Given the description of an element on the screen output the (x, y) to click on. 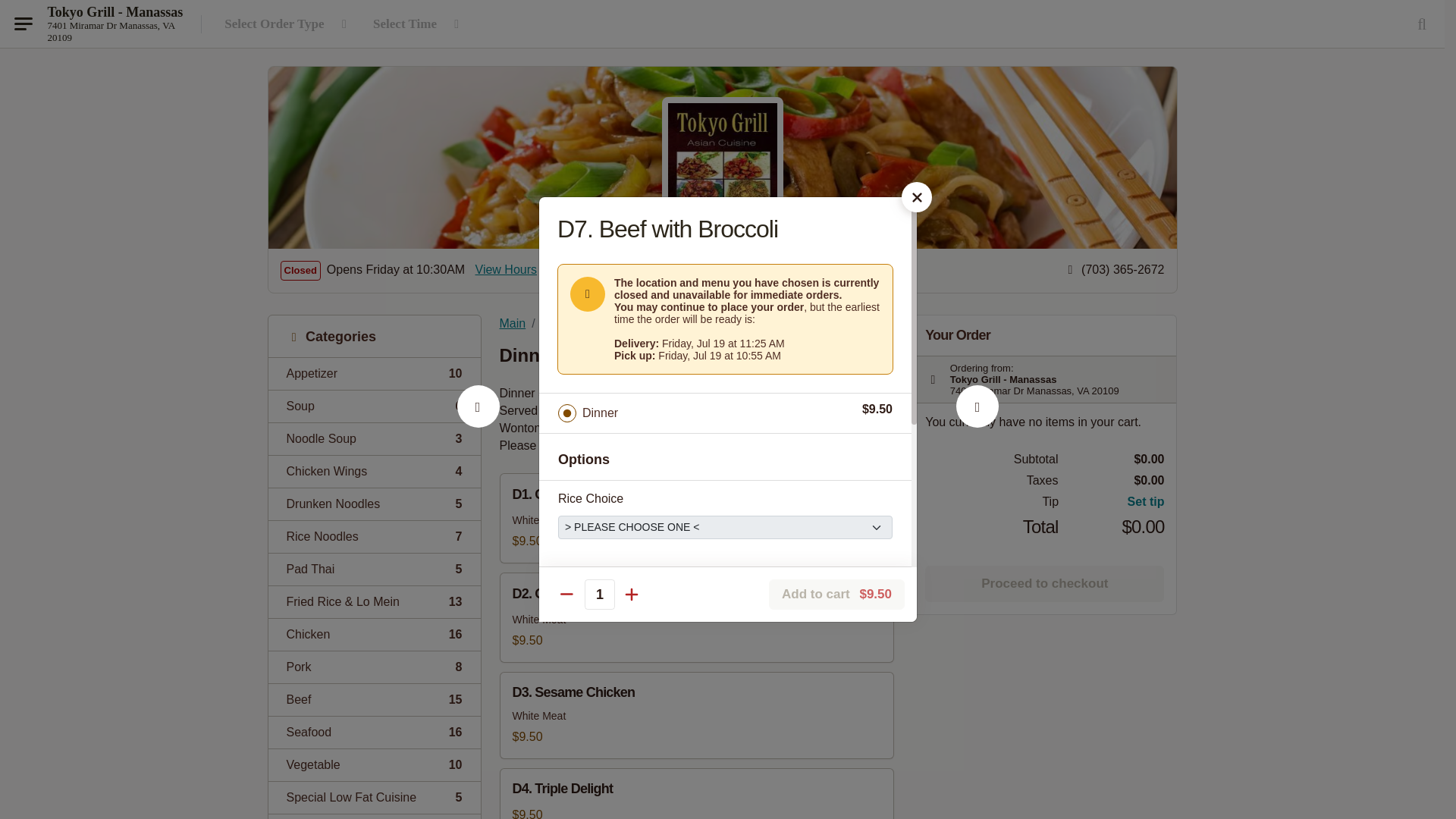
Add tip (373, 731)
7401 Miramar Dr Manassas, VA 20109 (1112, 501)
D7. Shrimp with Broccolil (373, 666)
Tokyo Grill - Manassas (373, 373)
Choose a Rice Choice (373, 503)
Select Order Type (114, 31)
